Given the description of an element on the screen output the (x, y) to click on. 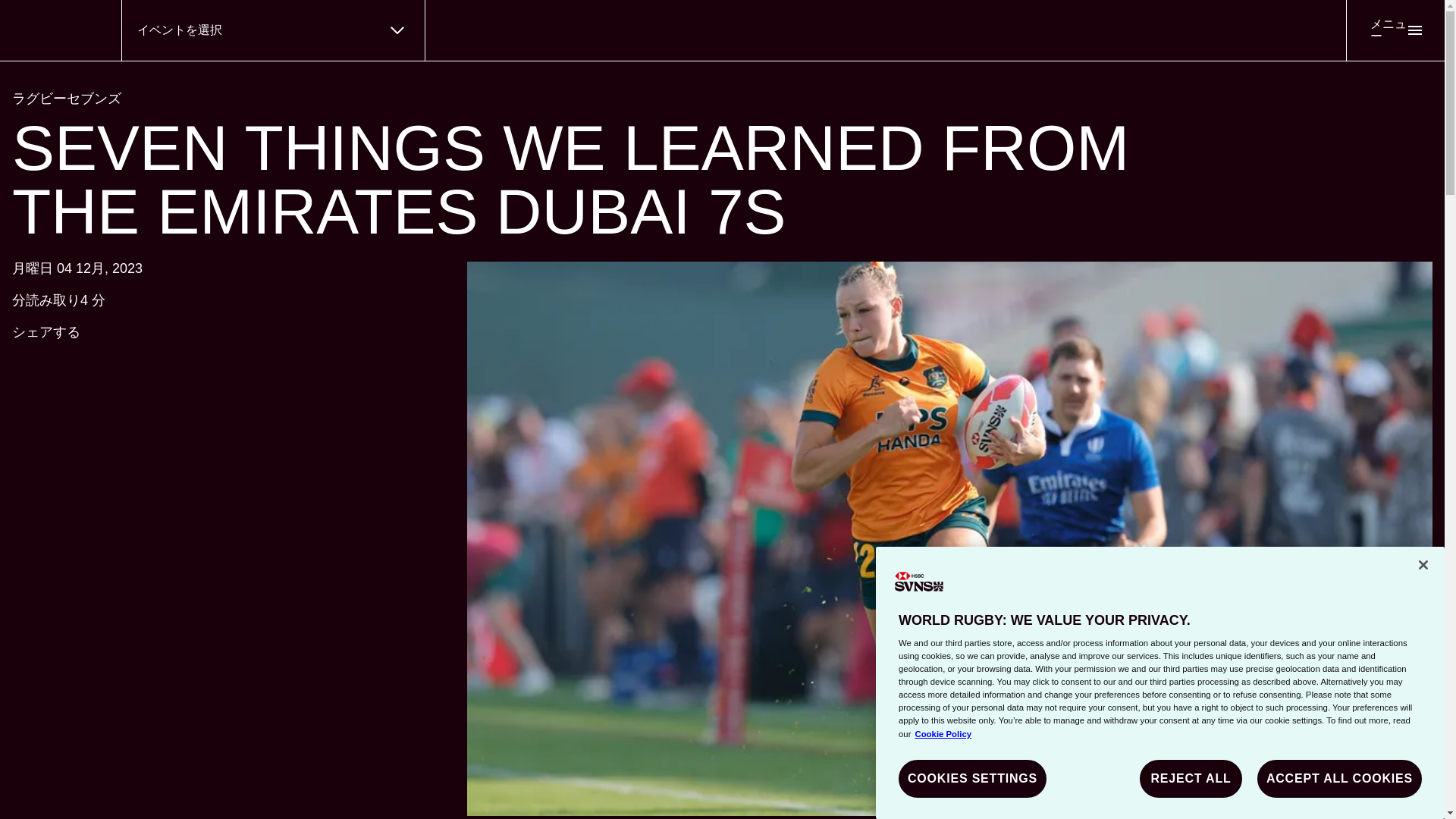
Company Logo (919, 581)
